Given the description of an element on the screen output the (x, y) to click on. 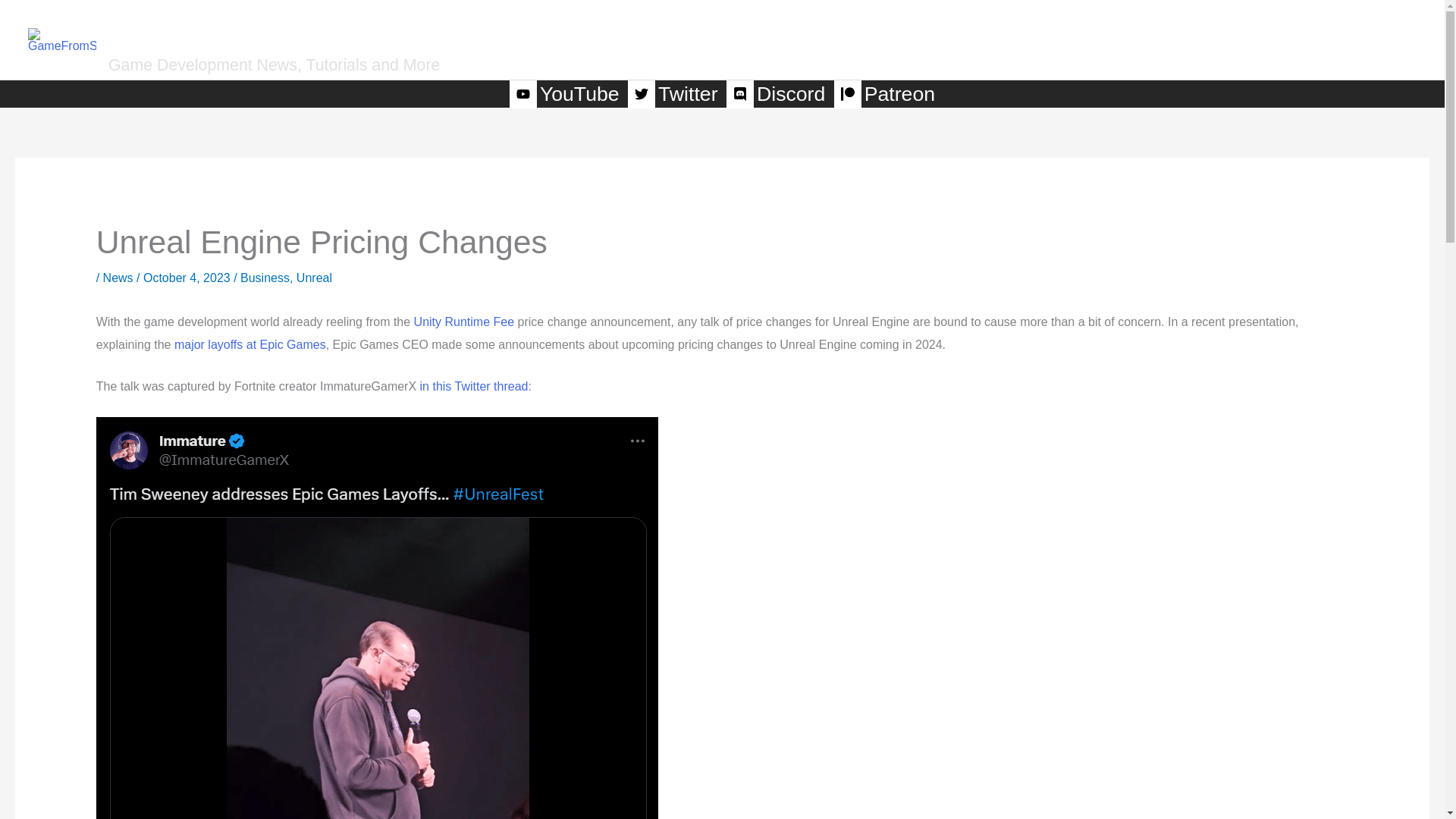
News (118, 277)
YouTube (566, 93)
Discord (777, 93)
Twitter (673, 93)
major layoffs at Epic Games (250, 344)
Reviews (1127, 39)
Patreon (884, 93)
News (1045, 39)
Resources (1323, 39)
Business (264, 277)
GameFromScratch.com (339, 27)
Unity Runtime Fee (464, 321)
in this Twitter thread (474, 386)
Unreal (314, 277)
Tutorials (1221, 39)
